Given the description of an element on the screen output the (x, y) to click on. 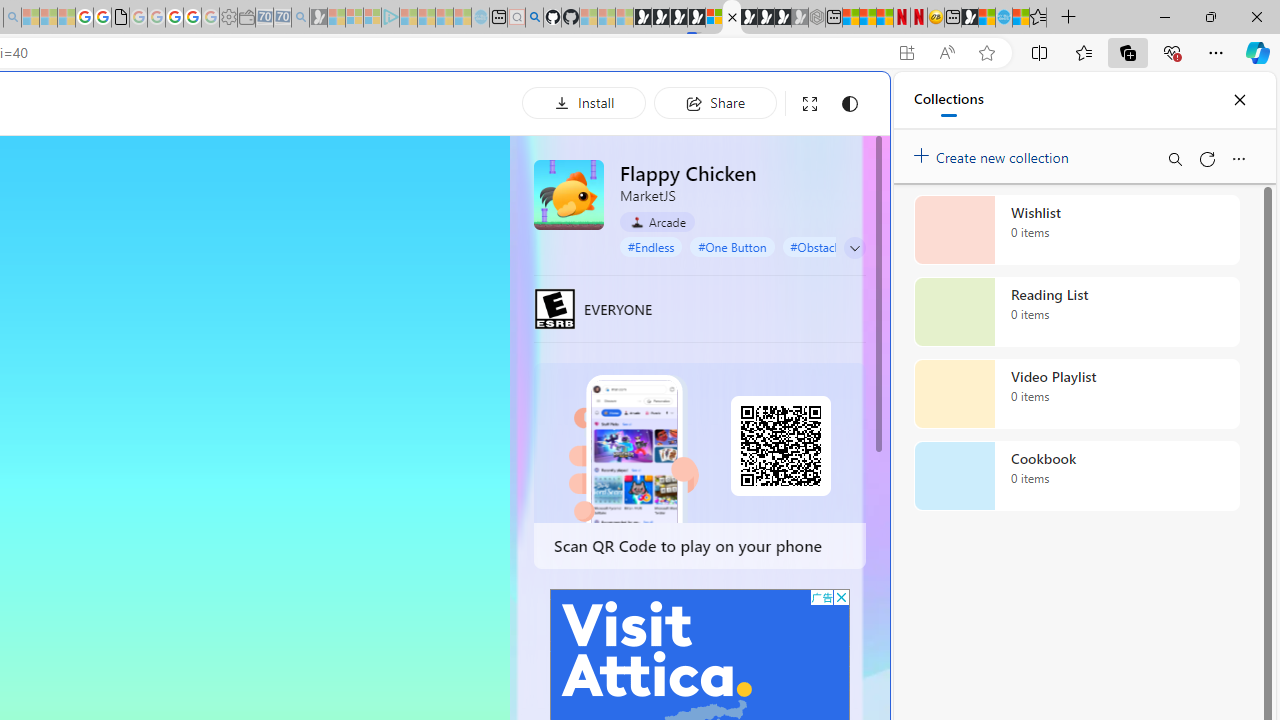
Services - Maintenance | Sky Blue Bikes - Sky Blue Bikes (1003, 17)
EVERYONE (554, 308)
Arcade (657, 221)
Play Cave FRVR in your browser | Games from Microsoft Start (678, 17)
Settings - Sleeping (228, 17)
Sign in to your account (714, 17)
Tabs you've opened (276, 265)
